Given the description of an element on the screen output the (x, y) to click on. 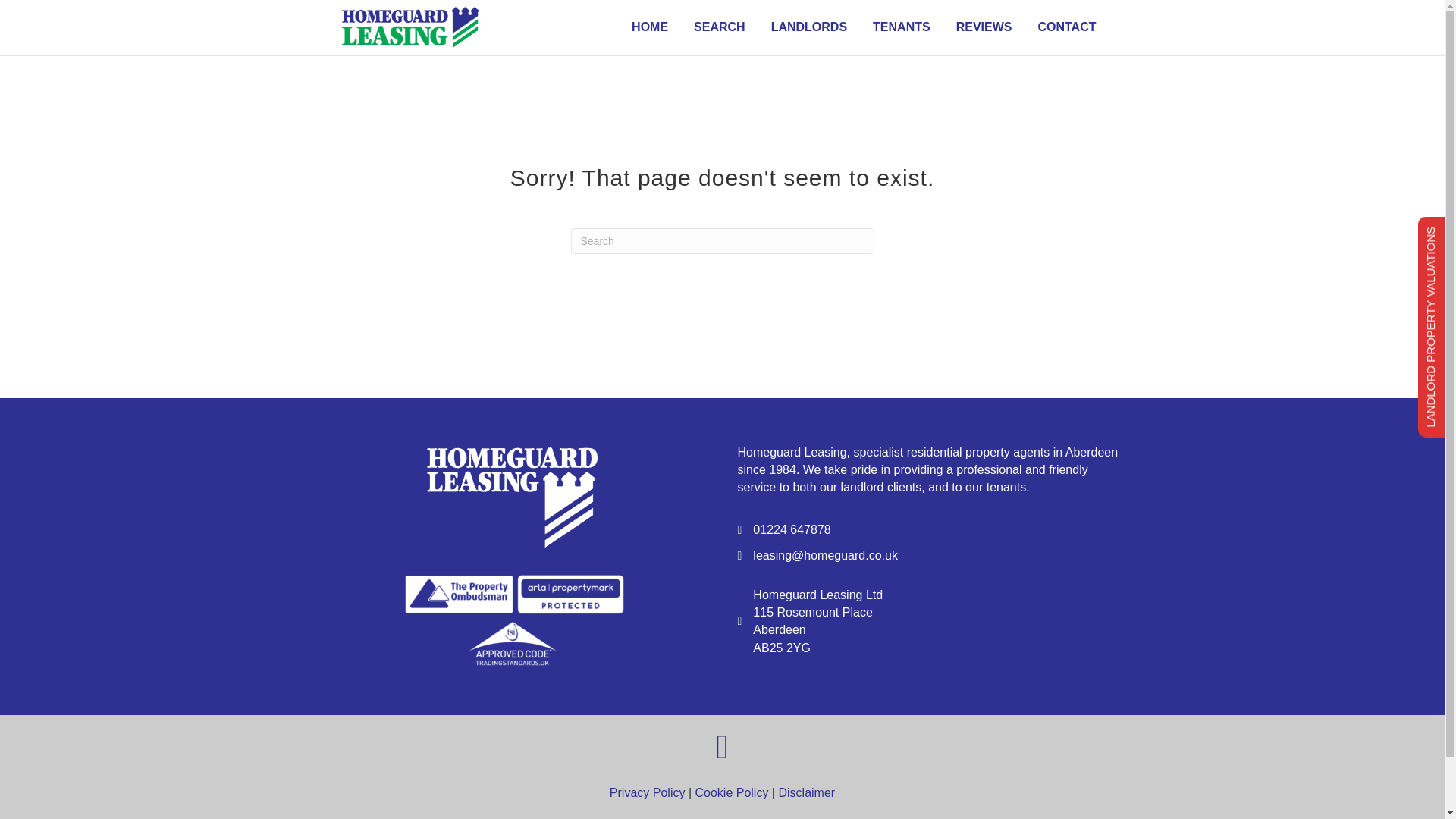
Homeguard Leasing Logo white 250 (513, 491)
Type and press Enter to search. (721, 240)
LANDLORDS (809, 26)
footer-logos-white-big (513, 619)
REVIEWS (984, 26)
CONTACT (1066, 26)
Disclaimer (805, 792)
Privacy Policy (647, 792)
TENANTS (901, 26)
Cookie Policy (731, 792)
01224 647878 (790, 529)
SEARCH (719, 26)
HOME (649, 26)
